Given the description of an element on the screen output the (x, y) to click on. 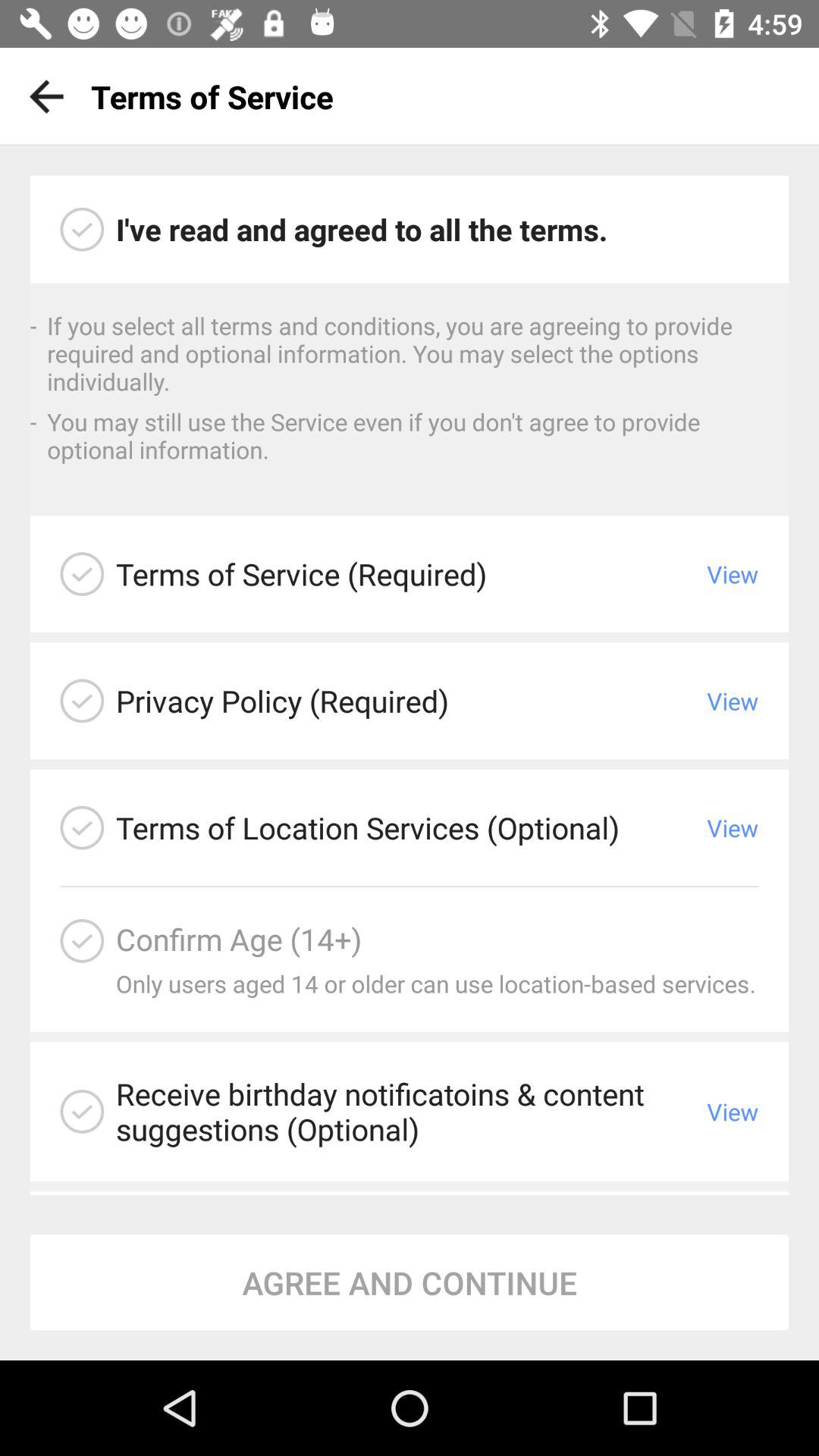
turn on birthday notifications and suggestios (82, 1111)
